Given the description of an element on the screen output the (x, y) to click on. 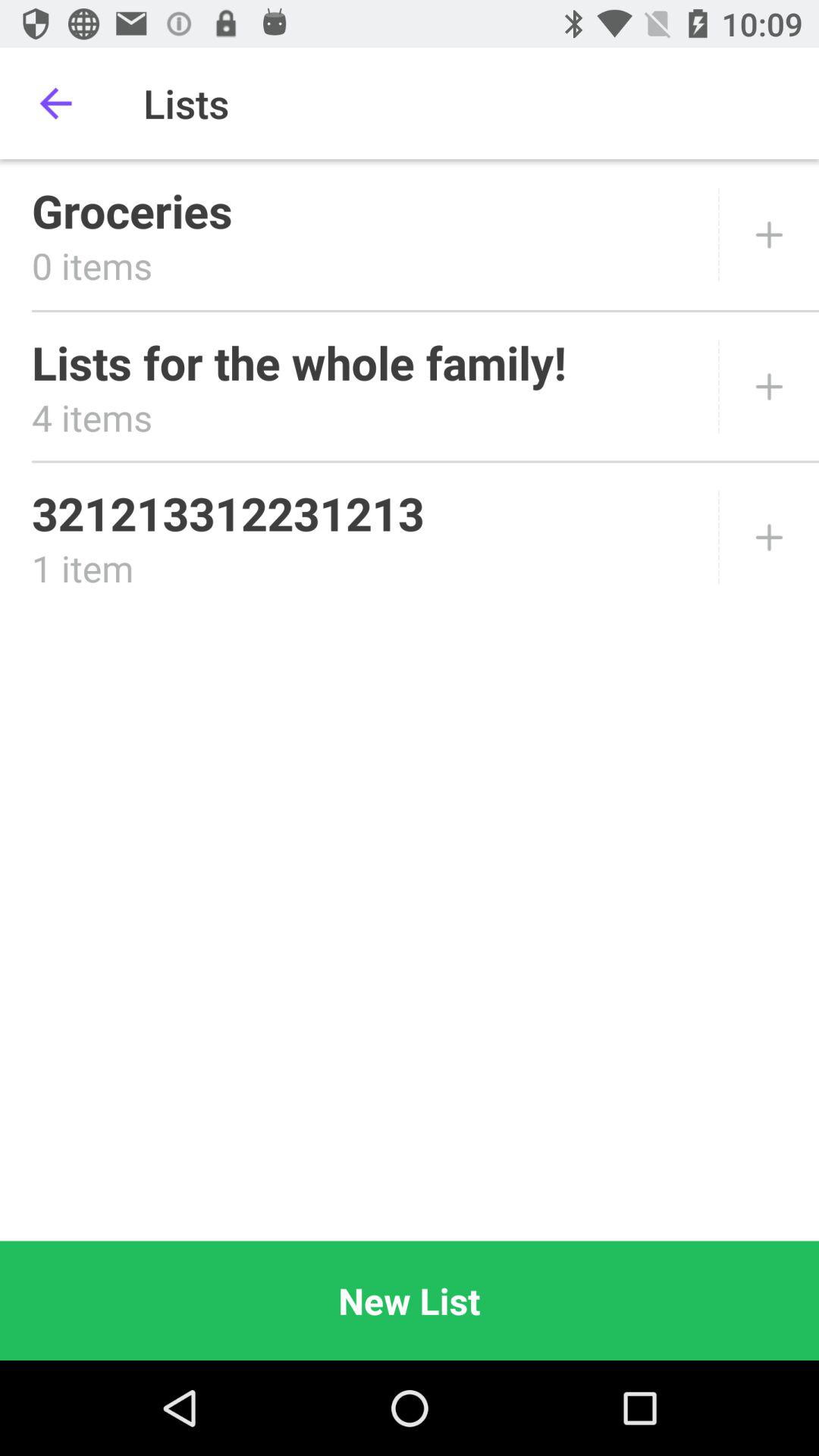
open the new list icon (409, 1300)
